Given the description of an element on the screen output the (x, y) to click on. 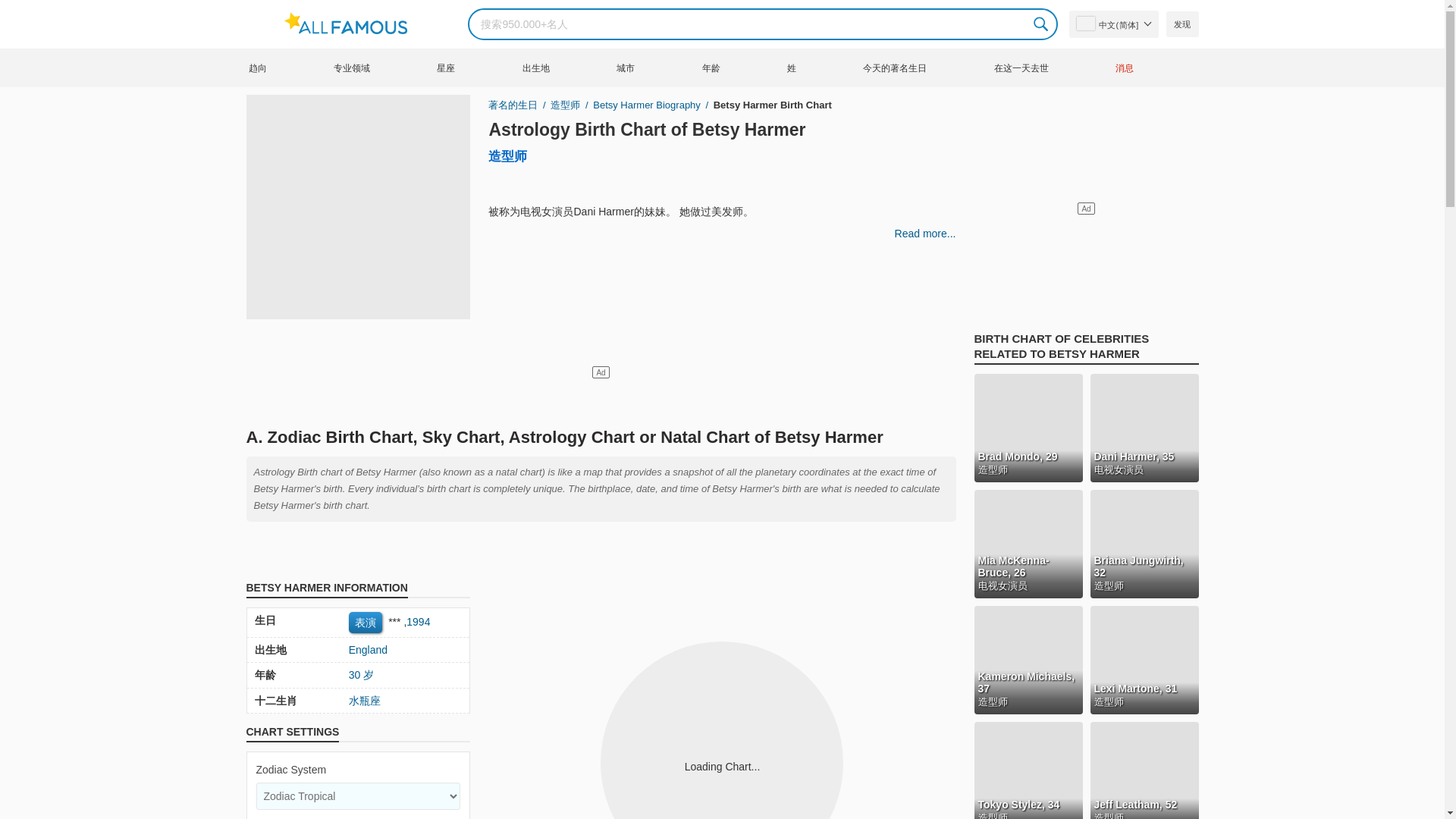
SEARCH (1042, 24)
Astrology Birth Chart of Betsy Harmer (646, 129)
AllFamous.org (353, 23)
